Given the description of an element on the screen output the (x, y) to click on. 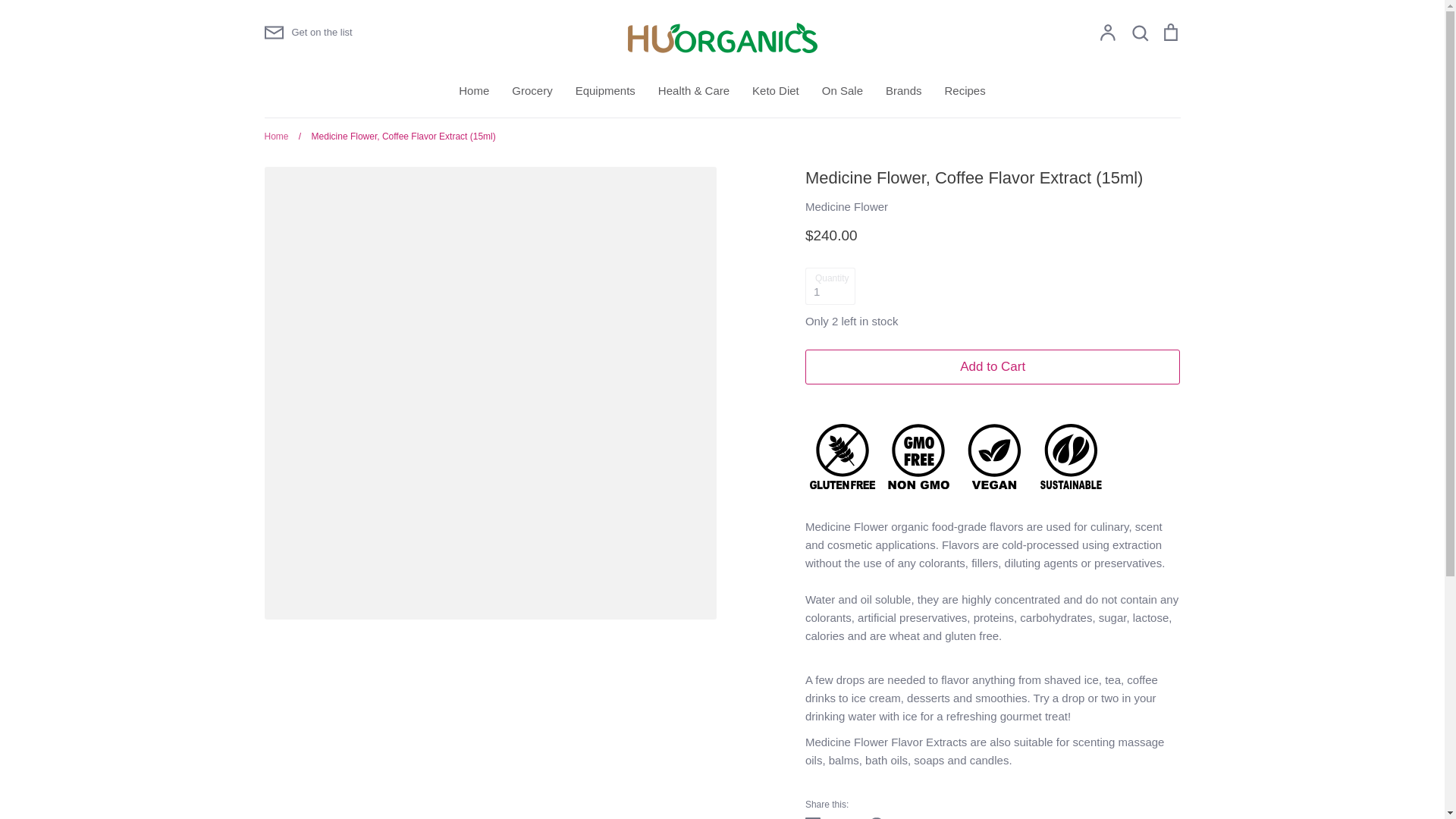
Search (1139, 32)
Grocery (531, 90)
On Sale (842, 90)
Brands (903, 90)
Account (1107, 32)
Home (473, 90)
Cart (1169, 32)
Equipments (604, 90)
Keto Diet (775, 90)
Get on the list (307, 32)
